Given the description of an element on the screen output the (x, y) to click on. 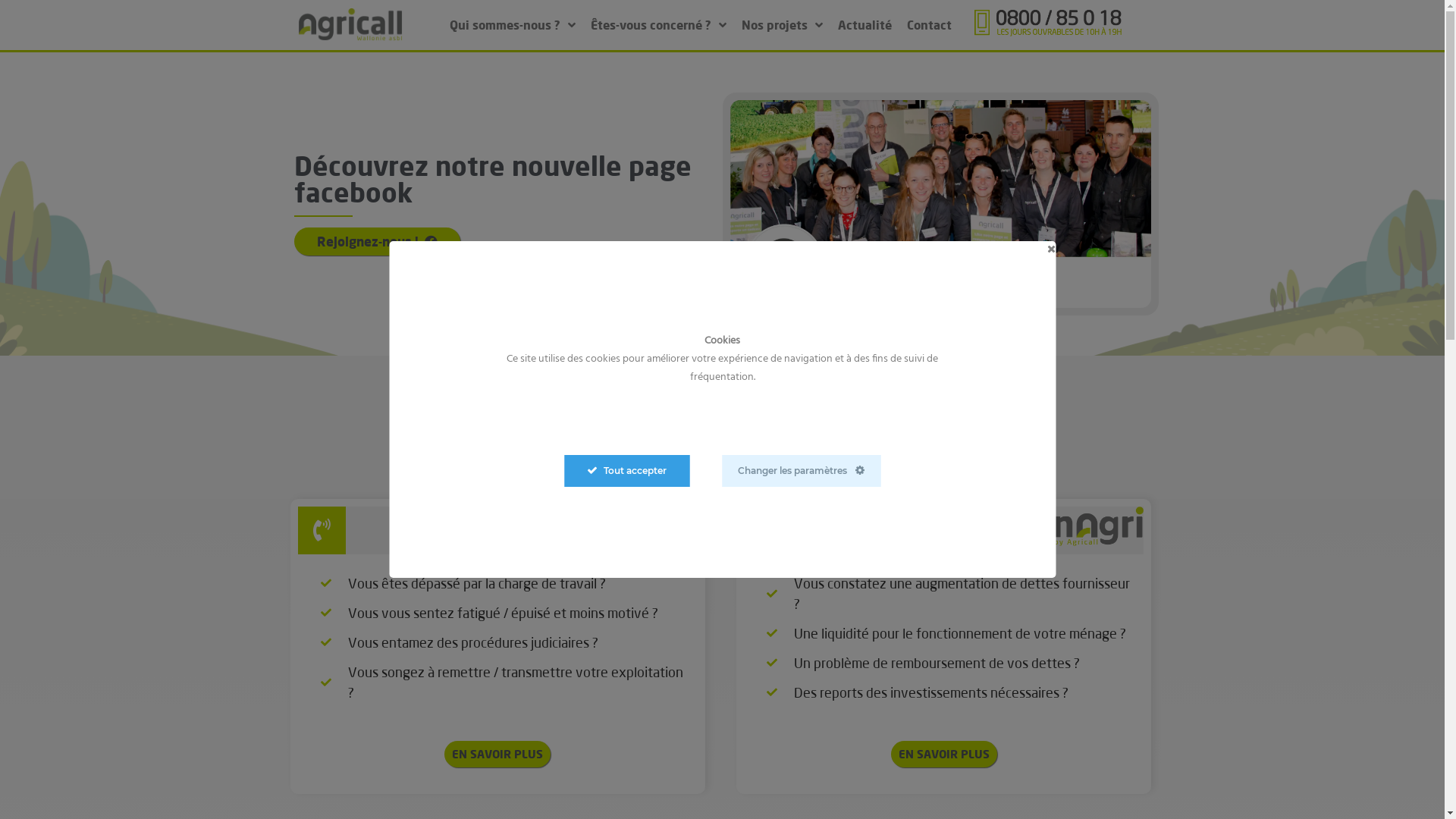
Contact Element type: text (929, 24)
Qui sommes-nous ? Element type: text (512, 24)
EN SAVOIR PLUS Element type: text (944, 753)
Rejoignez-nous ! Element type: text (377, 241)
Nos projets Element type: text (782, 24)
EN SAVOIR PLUS Element type: text (497, 753)
